Given the description of an element on the screen output the (x, y) to click on. 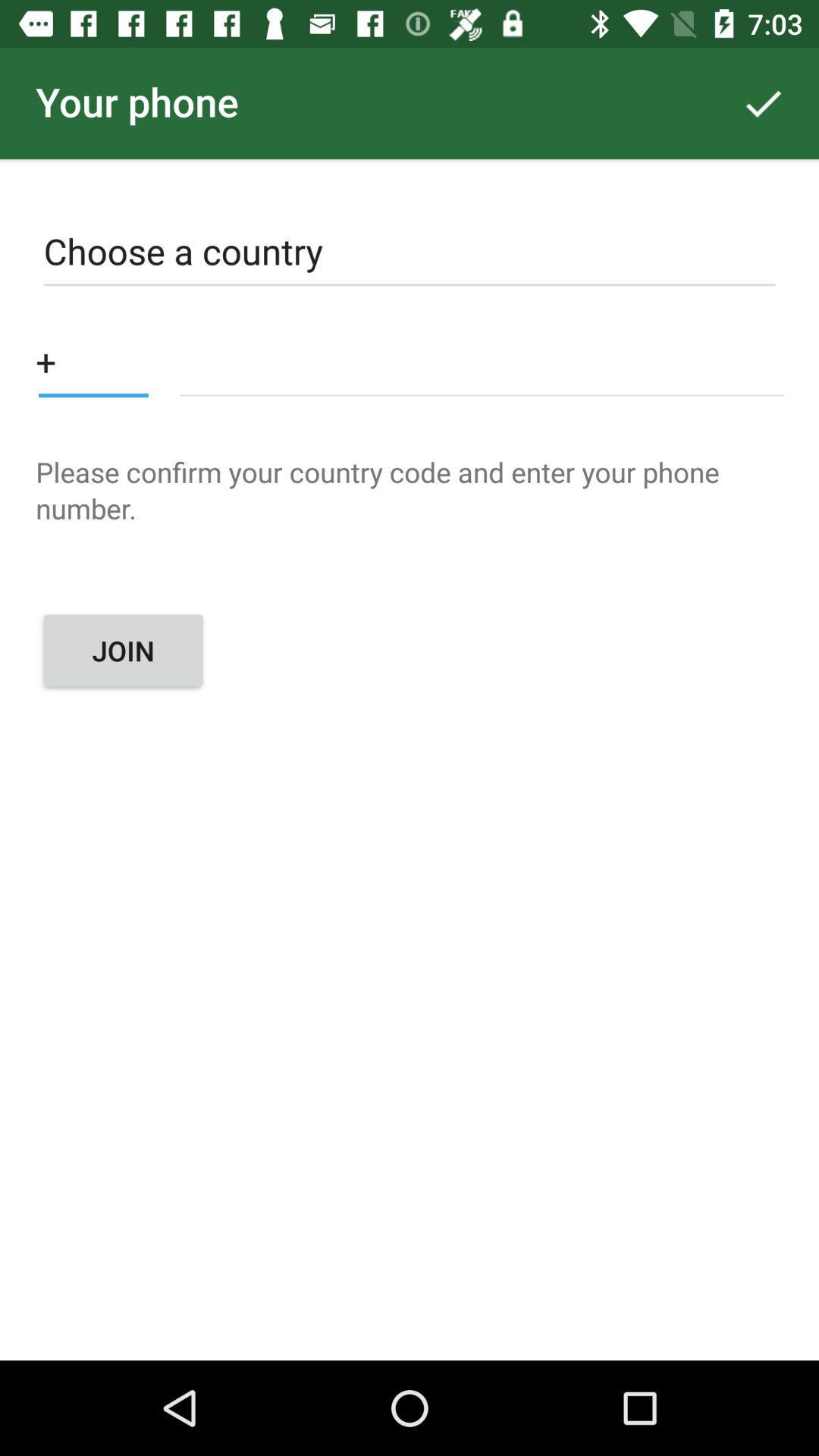
typing box (481, 361)
